Given the description of an element on the screen output the (x, y) to click on. 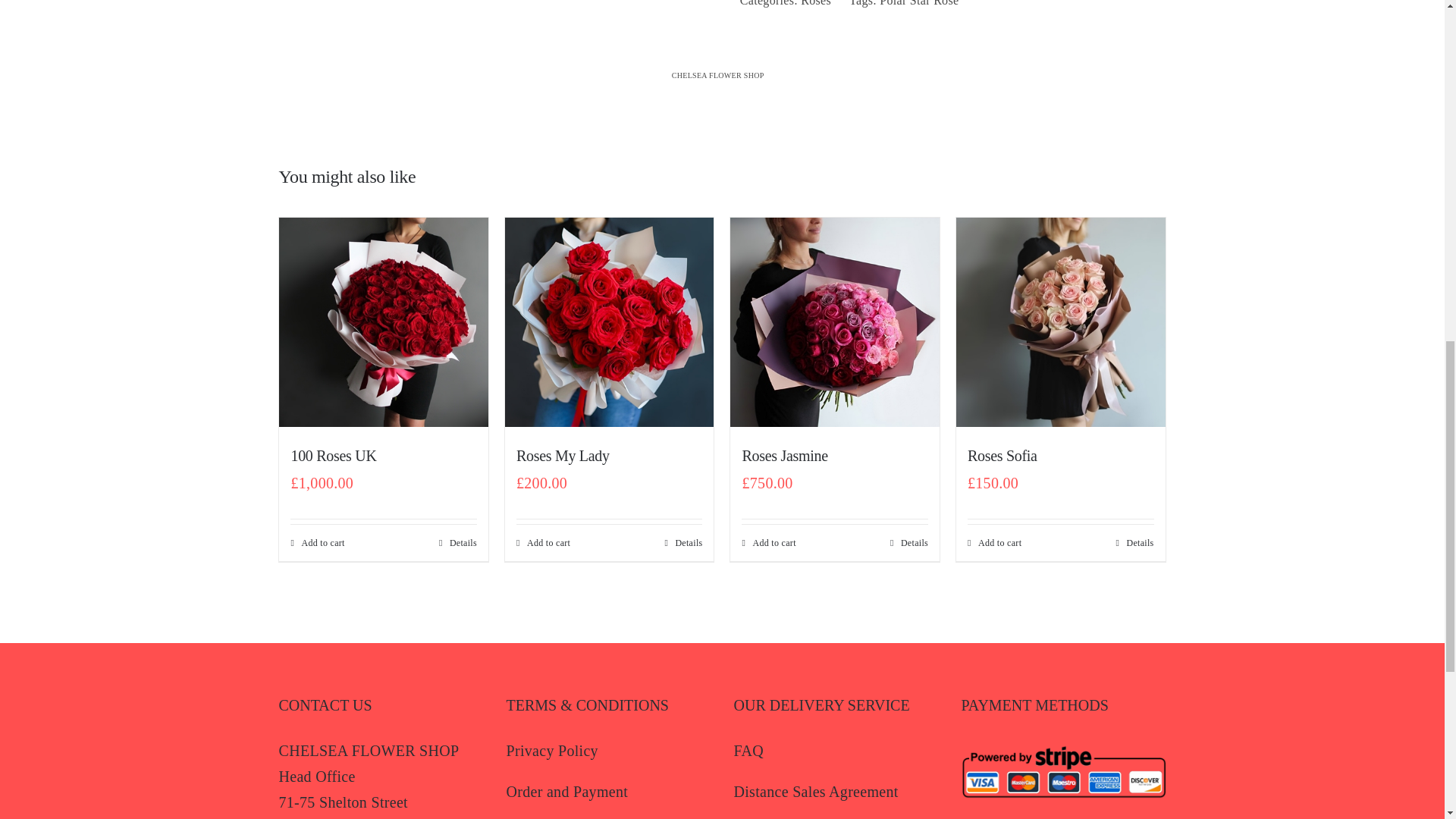
Polar Star Rose (918, 3)
Roses (815, 3)
Add to cart (543, 542)
Details (908, 542)
Add to cart (995, 542)
100 Roses UK (332, 455)
Details (458, 542)
Roses My Lady (563, 455)
Roses Jasmine (784, 455)
Details (682, 542)
Roses Sofia (1002, 455)
Add to cart (316, 542)
Add to cart (767, 542)
